Given the description of an element on the screen output the (x, y) to click on. 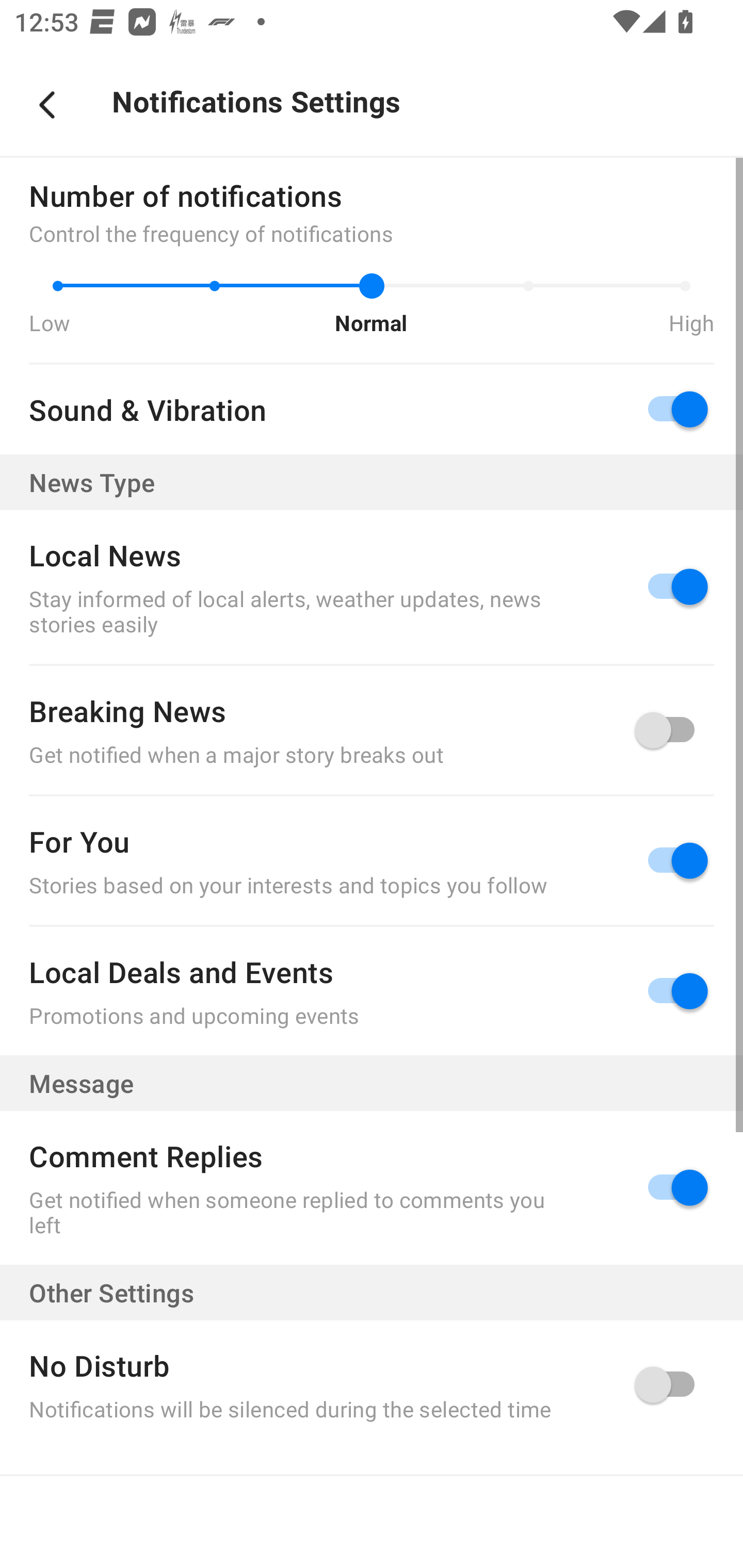
Back (46, 104)
Sound & Vibration (371, 409)
